Given the description of an element on the screen output the (x, y) to click on. 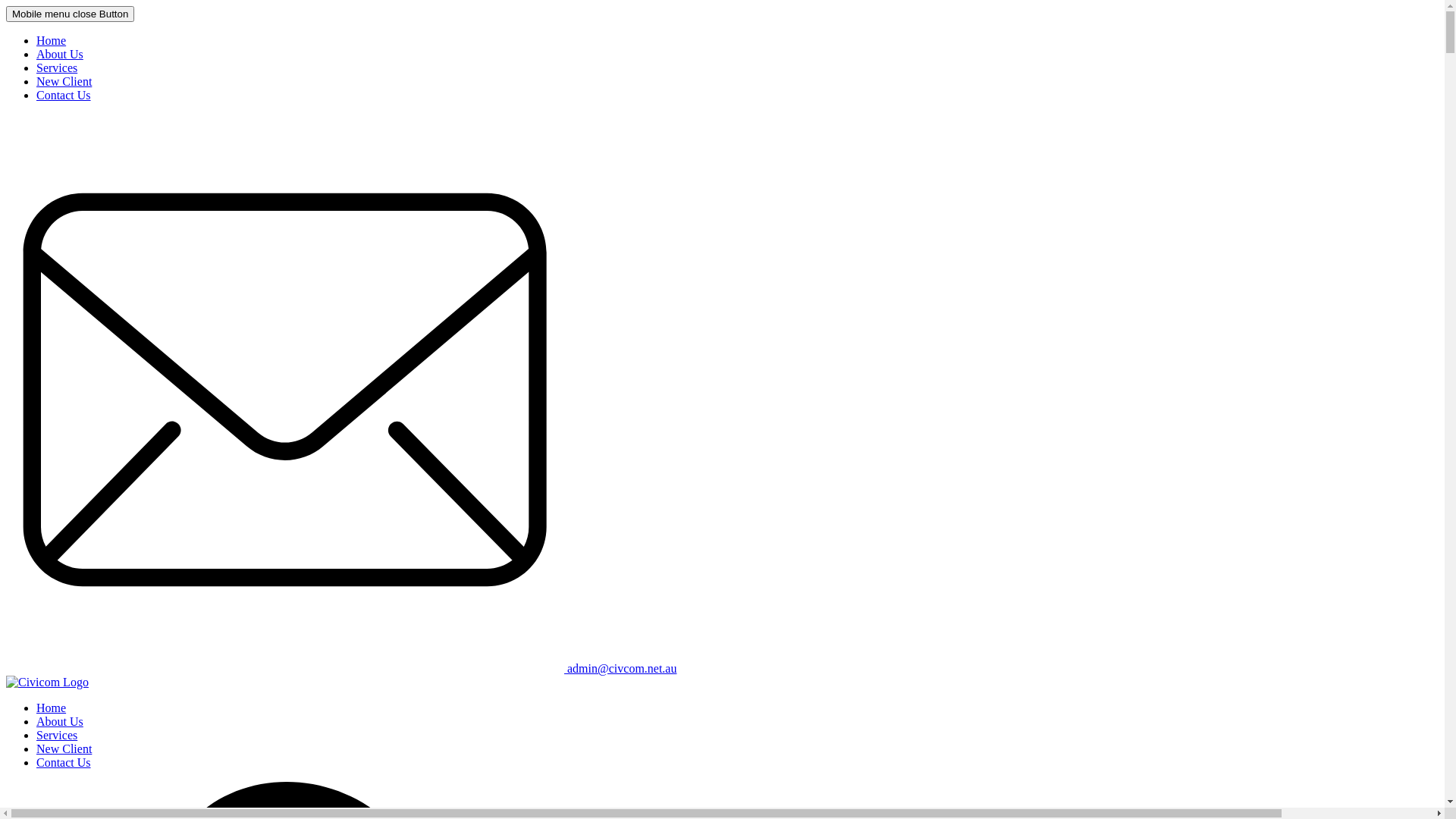
Mobile menu close Button Element type: text (70, 13)
Services Element type: text (56, 734)
About Us Element type: text (59, 721)
About Us Element type: text (59, 53)
Contact Us Element type: text (63, 762)
Home Element type: text (50, 40)
Contact Us Element type: text (63, 94)
New Client Element type: text (63, 748)
Home Element type: text (50, 707)
admin@civcom.net.au Element type: text (341, 668)
Services Element type: text (56, 67)
New Client Element type: text (63, 81)
